Given the description of an element on the screen output the (x, y) to click on. 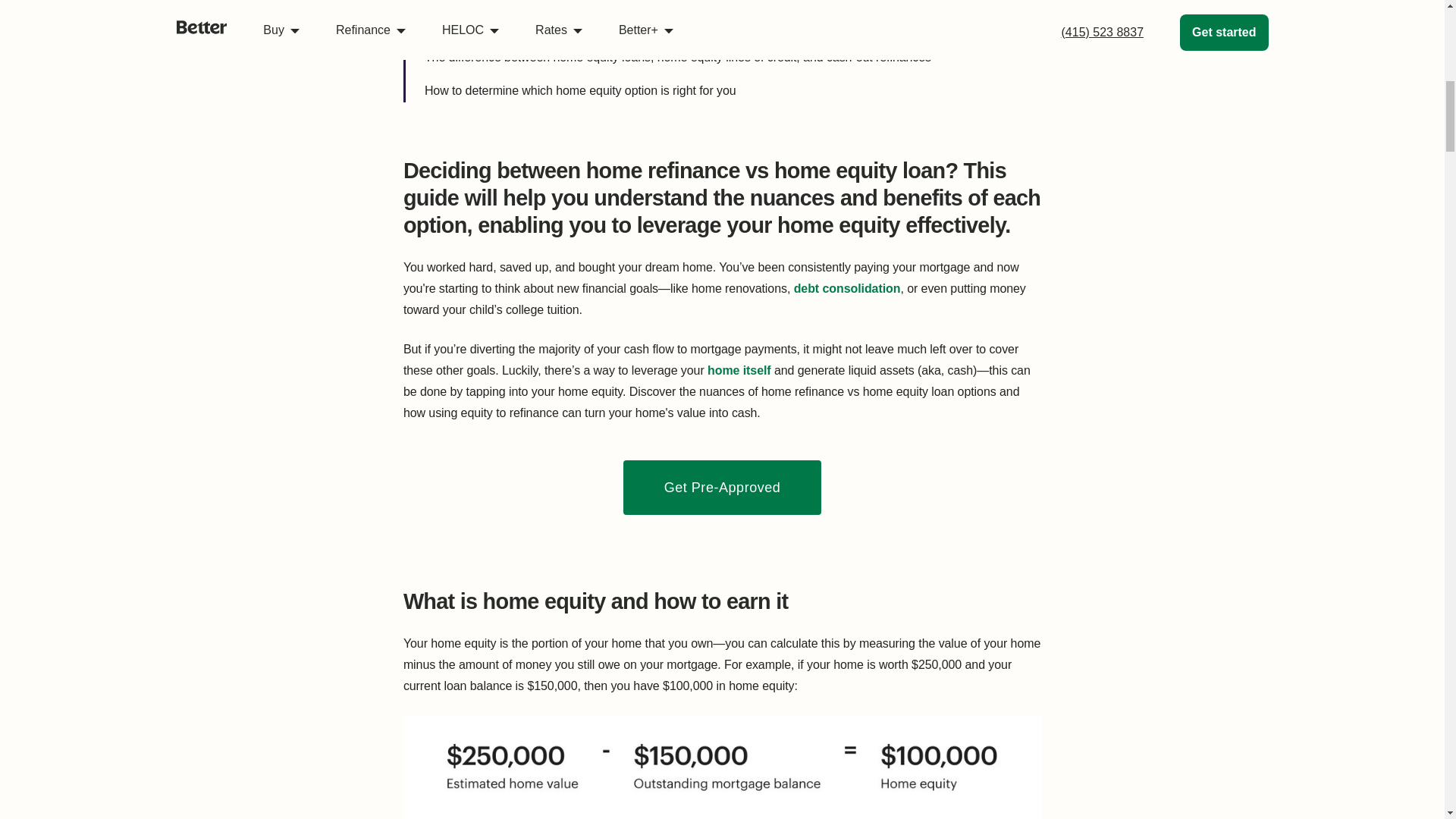
debt consolidation (847, 291)
